Given the description of an element on the screen output the (x, y) to click on. 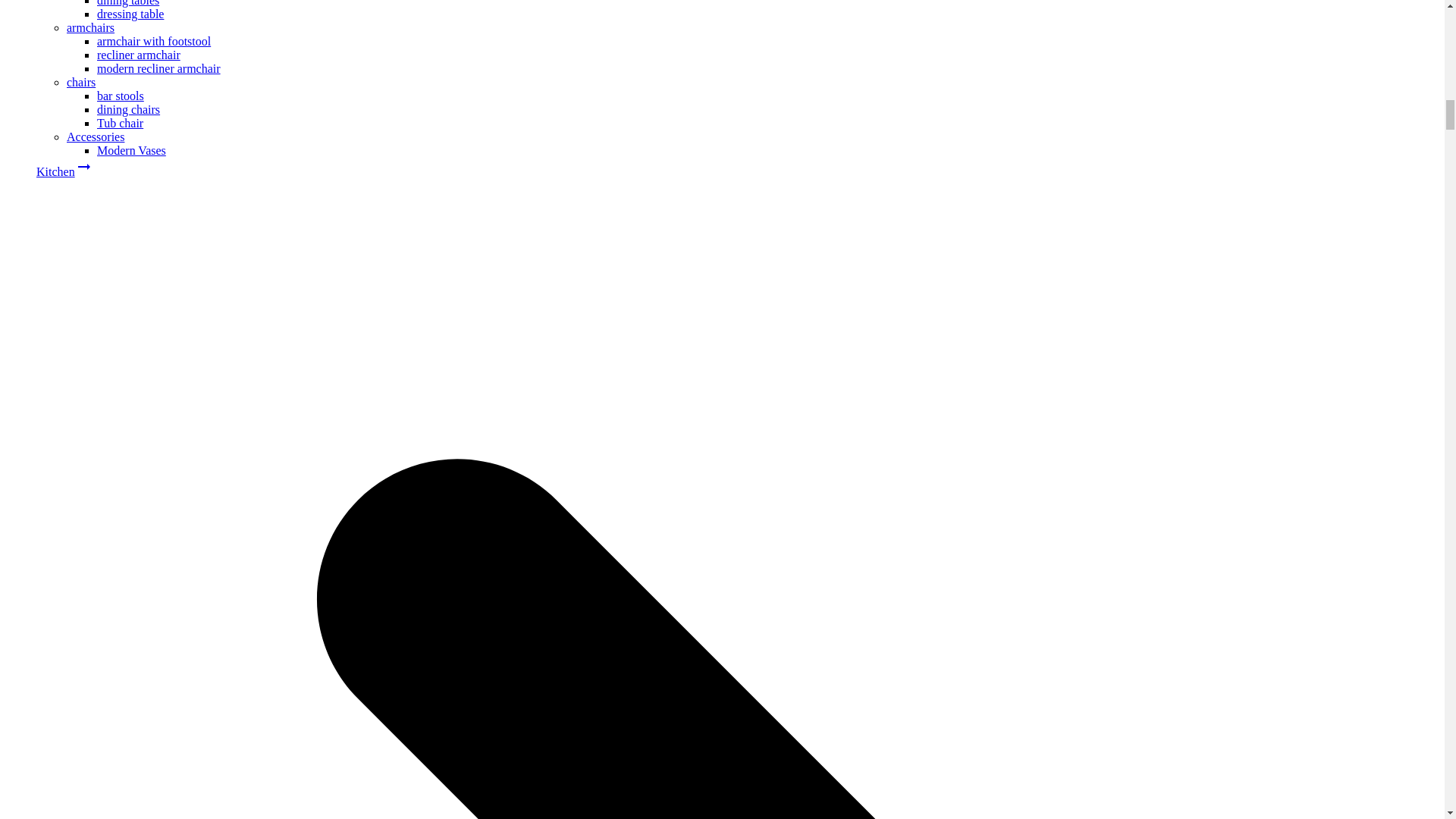
armchairs (90, 27)
Kitchen (55, 171)
Accessories (94, 136)
dining chairs (128, 109)
recliner armchair (138, 54)
Tub chair (119, 123)
modern recliner armchair (159, 68)
Modern Vases (131, 150)
bar stools (120, 95)
armchair with footstool (154, 41)
dining tables (127, 3)
chairs (81, 82)
dressing table (130, 13)
